Given the description of an element on the screen output the (x, y) to click on. 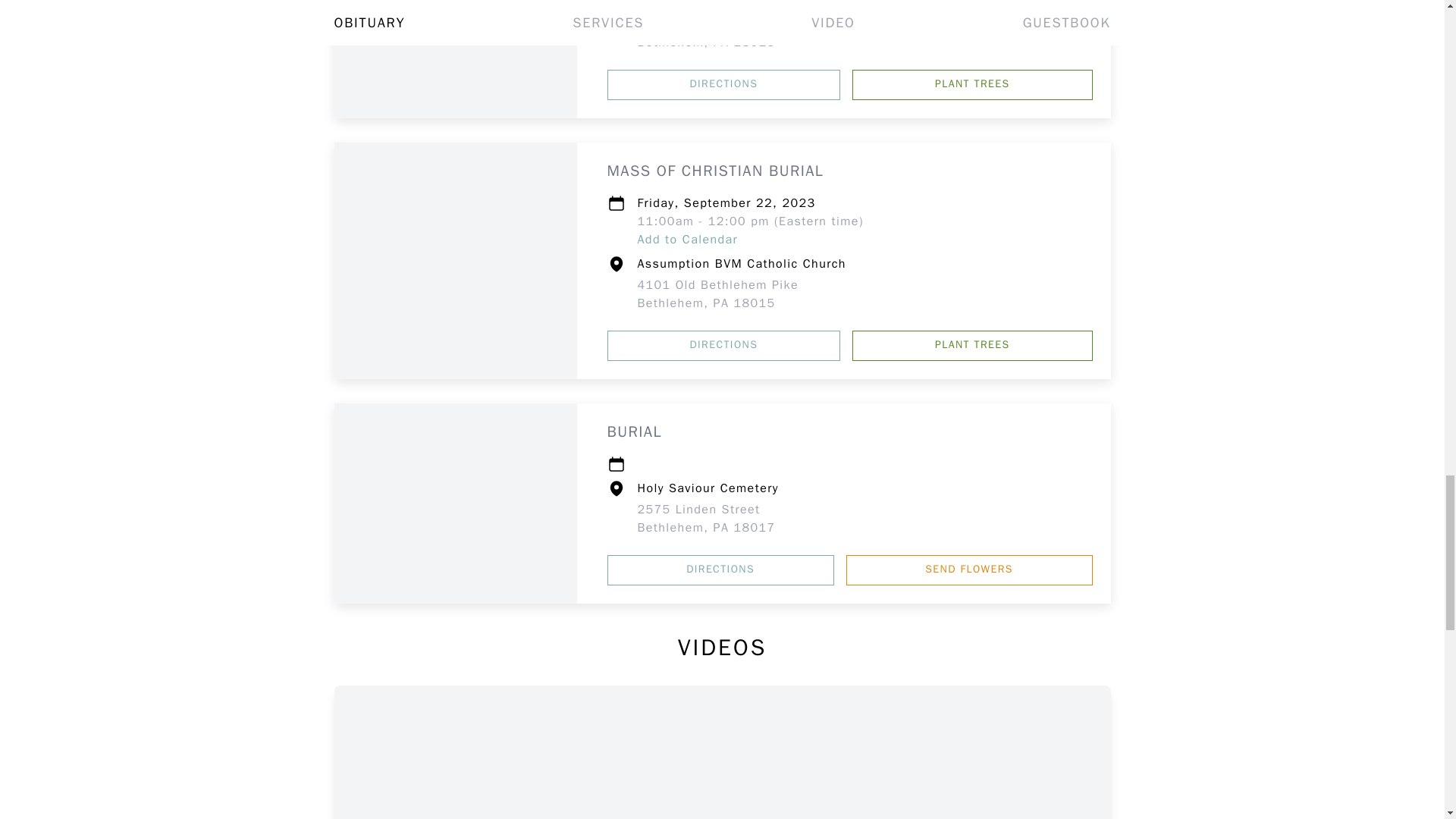
DIRECTIONS (723, 345)
PLANT TREES (971, 84)
Add to Calendar (717, 294)
PLANT TREES (705, 32)
DIRECTIONS (687, 239)
